Given the description of an element on the screen output the (x, y) to click on. 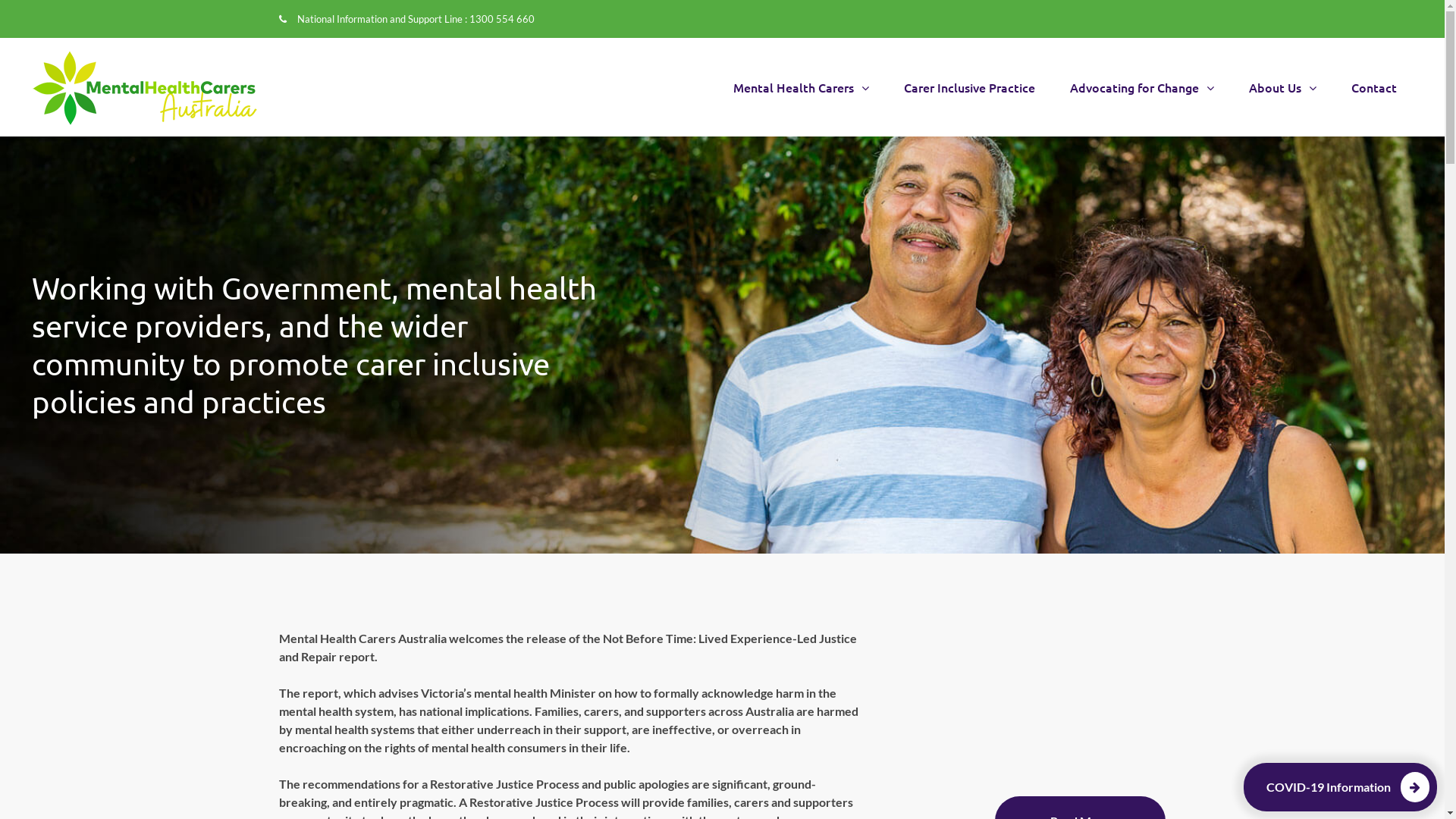
About Us Element type: text (1282, 86)
Mental Health Carers Element type: text (800, 86)
Carer Inclusive Practice Element type: text (969, 86)
Advocating for Change Element type: text (1141, 86)
Contact Element type: text (1373, 86)
COVID-19 Information Element type: text (1340, 786)
Mental Health Carers Australia Element type: hover (143, 87)
